Given the description of an element on the screen output the (x, y) to click on. 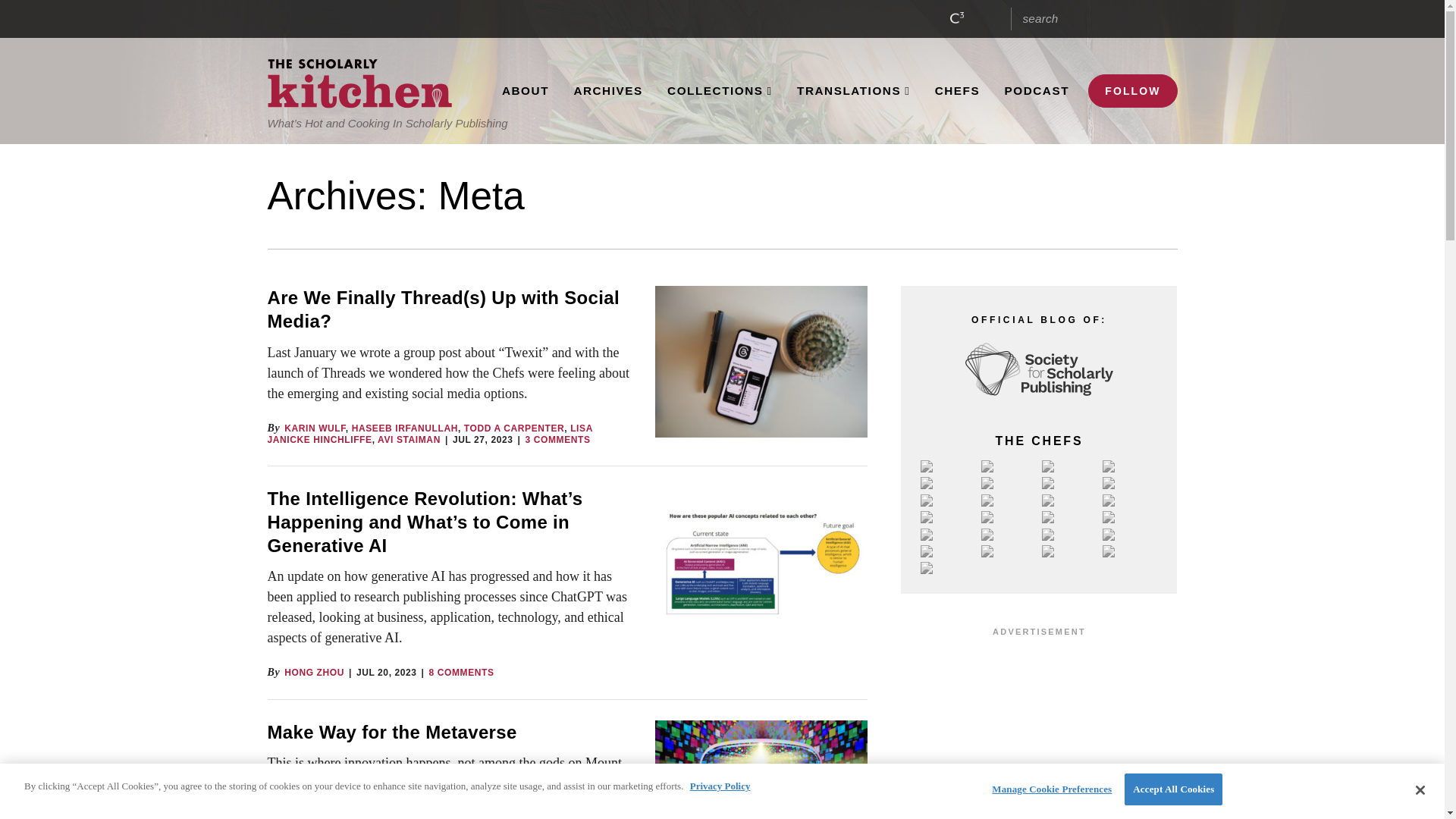
Posts by Todd A Carpenter (514, 428)
ARCHIVES (607, 91)
COLLECTIONS (719, 91)
TODD A CARPENTER (514, 428)
KARIN WULF (314, 428)
ABOUT (524, 91)
CHEFS (956, 91)
Search (1080, 18)
Posts by Karin Wulf (314, 428)
HASEEB IRFANULLAH (405, 428)
Submit Search (1162, 18)
TRANSLATIONS (853, 91)
PODCAST (1036, 91)
Posts by Avi Staiman (409, 439)
The Scholarly Kitchen (358, 83)
